Given the description of an element on the screen output the (x, y) to click on. 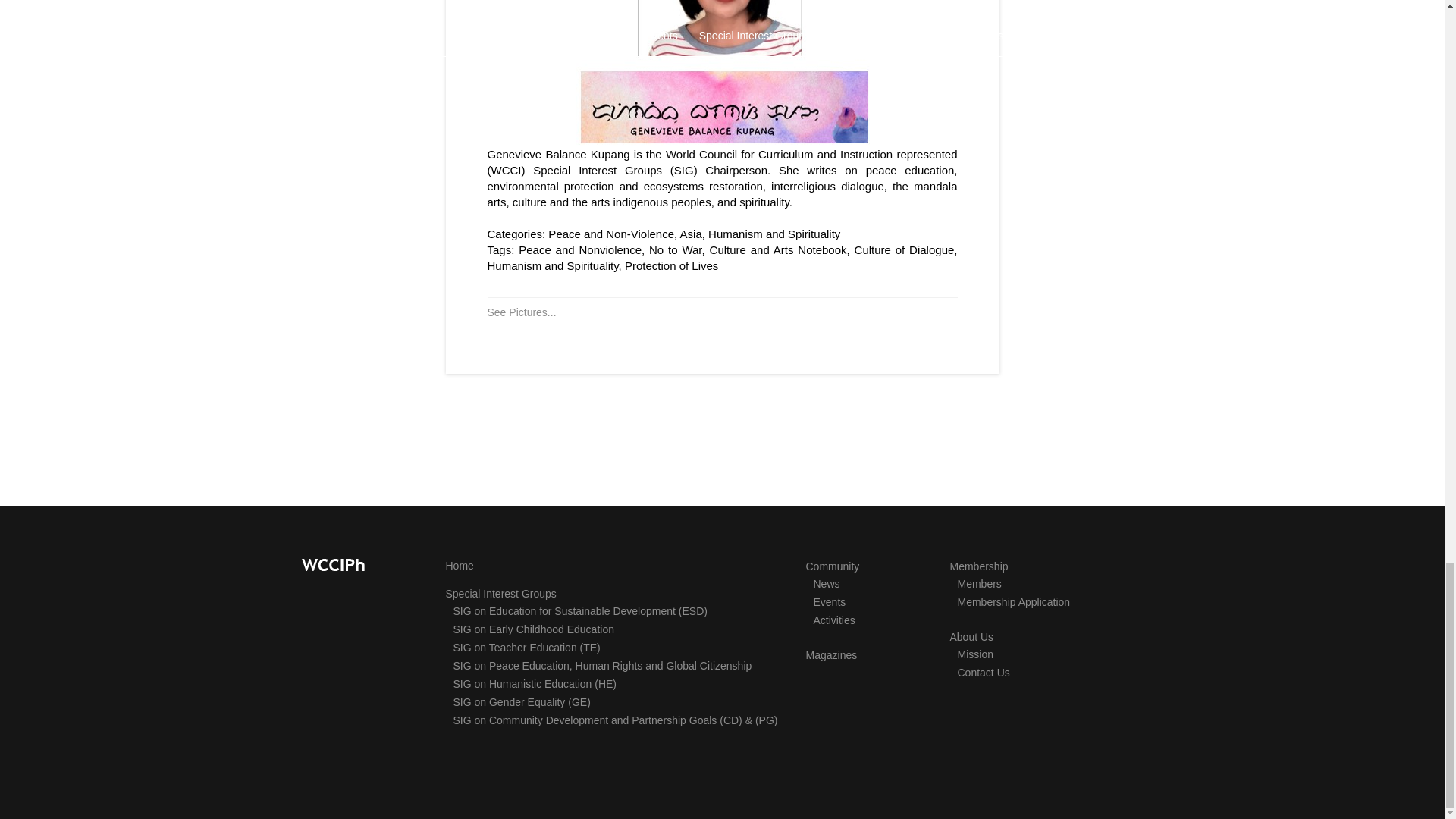
News (826, 583)
Events (828, 602)
Community (832, 566)
SIG on Peace Education, Human Rights and Global Citizenship (602, 664)
See Pictures... (521, 312)
Special Interest Groups (500, 593)
Home (459, 565)
SIG on Early Childhood Education (533, 628)
